Given the description of an element on the screen output the (x, y) to click on. 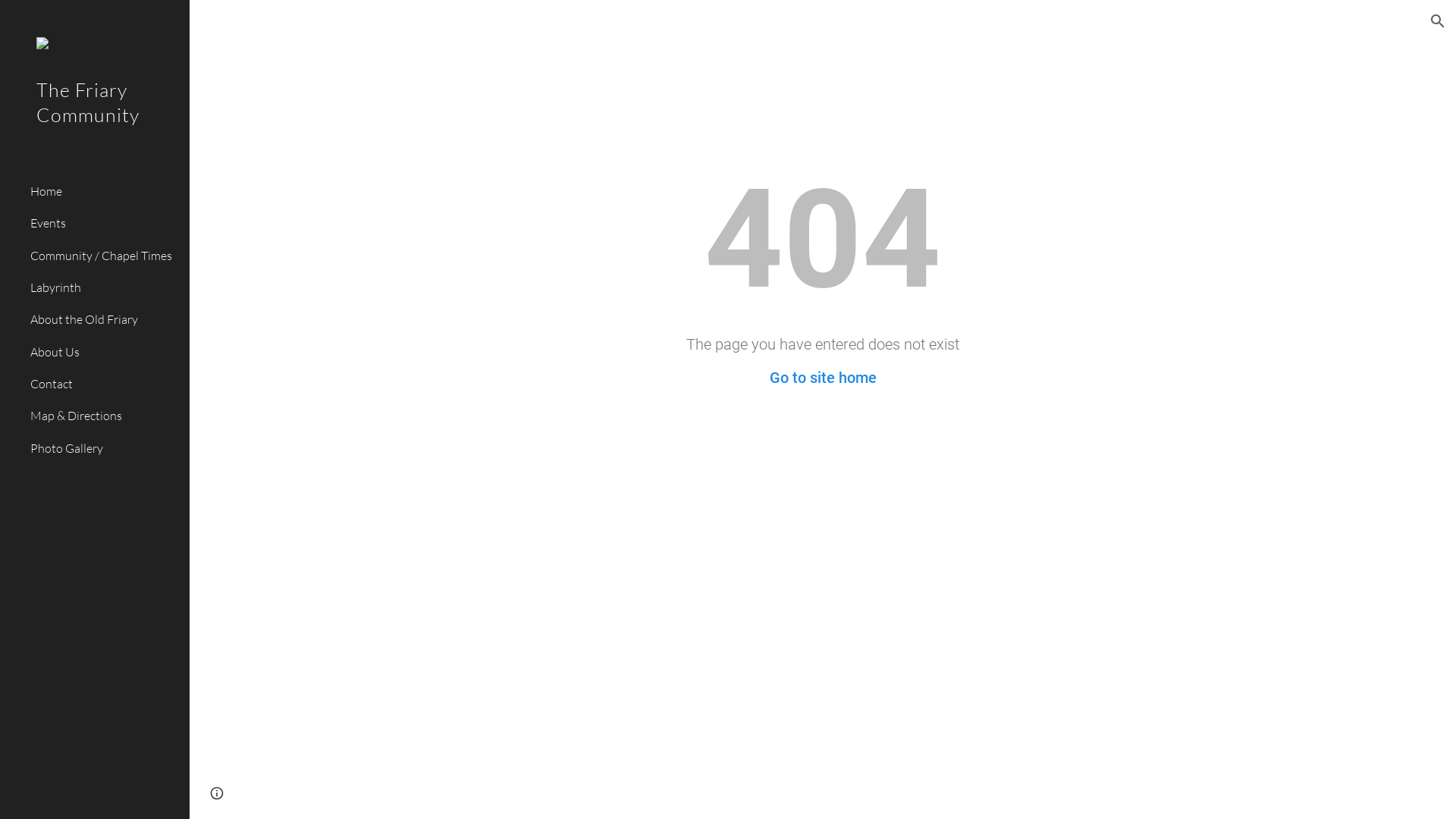
Home Element type: text (103, 191)
About Us Element type: text (103, 351)
Labyrinth Element type: text (103, 287)
The Friary Community Element type: text (94, 122)
Contact Element type: text (103, 384)
Events Element type: text (103, 223)
Go to site home Element type: text (821, 377)
About the Old Friary Element type: text (103, 319)
Map & Directions Element type: text (103, 416)
Community / Chapel Times Element type: text (103, 255)
Photo Gallery Element type: text (103, 448)
